Given the description of an element on the screen output the (x, y) to click on. 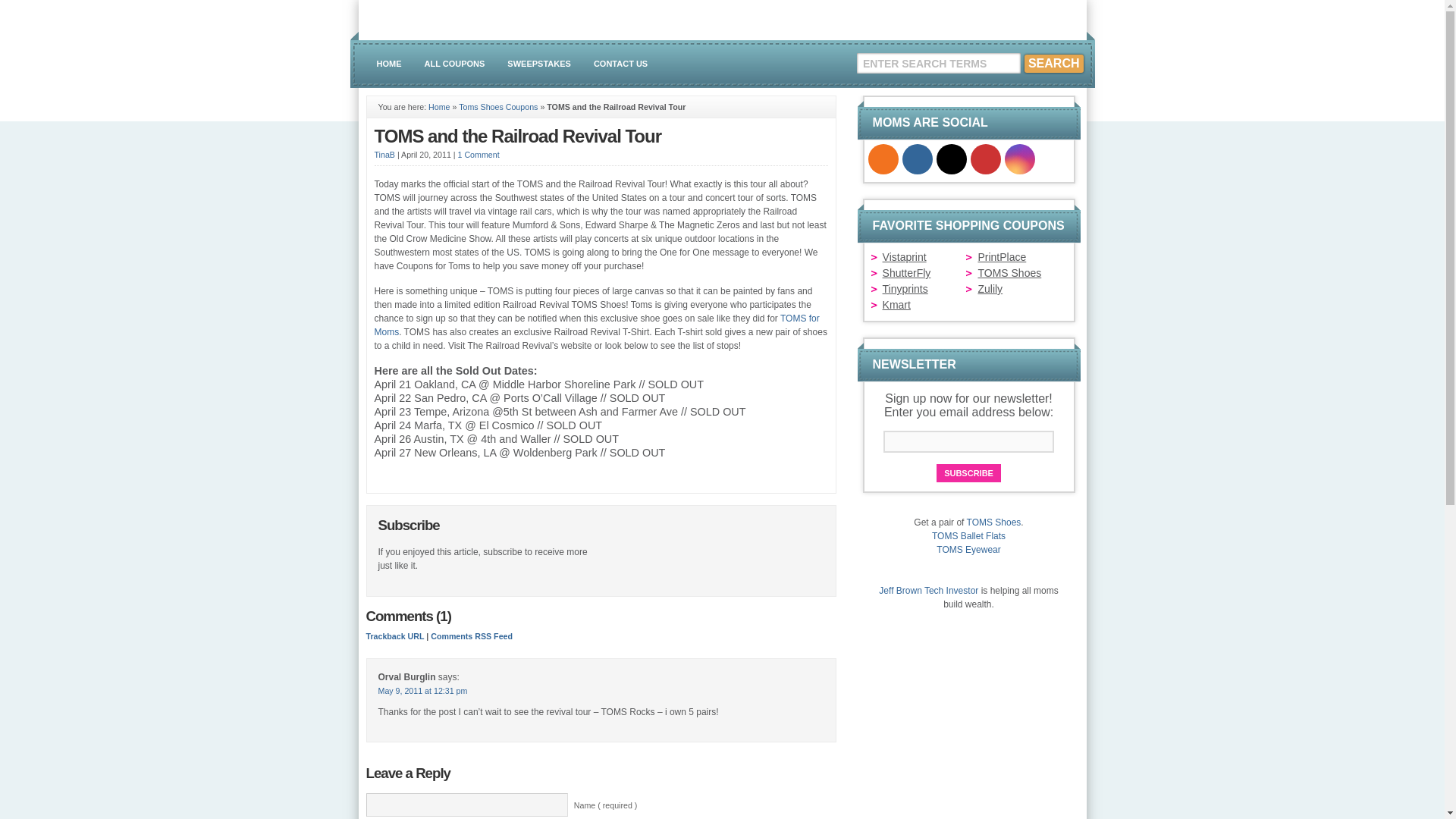
Permanent Link to TOMS and the Railroad Revival Tour (518, 136)
CONTACT US (620, 63)
Comments RSS Feed for This Entry (471, 635)
HOME (389, 63)
Toms Shoes Coupons (497, 106)
1 Comment (478, 153)
Home (438, 106)
Subscribe (968, 473)
